Given the description of an element on the screen output the (x, y) to click on. 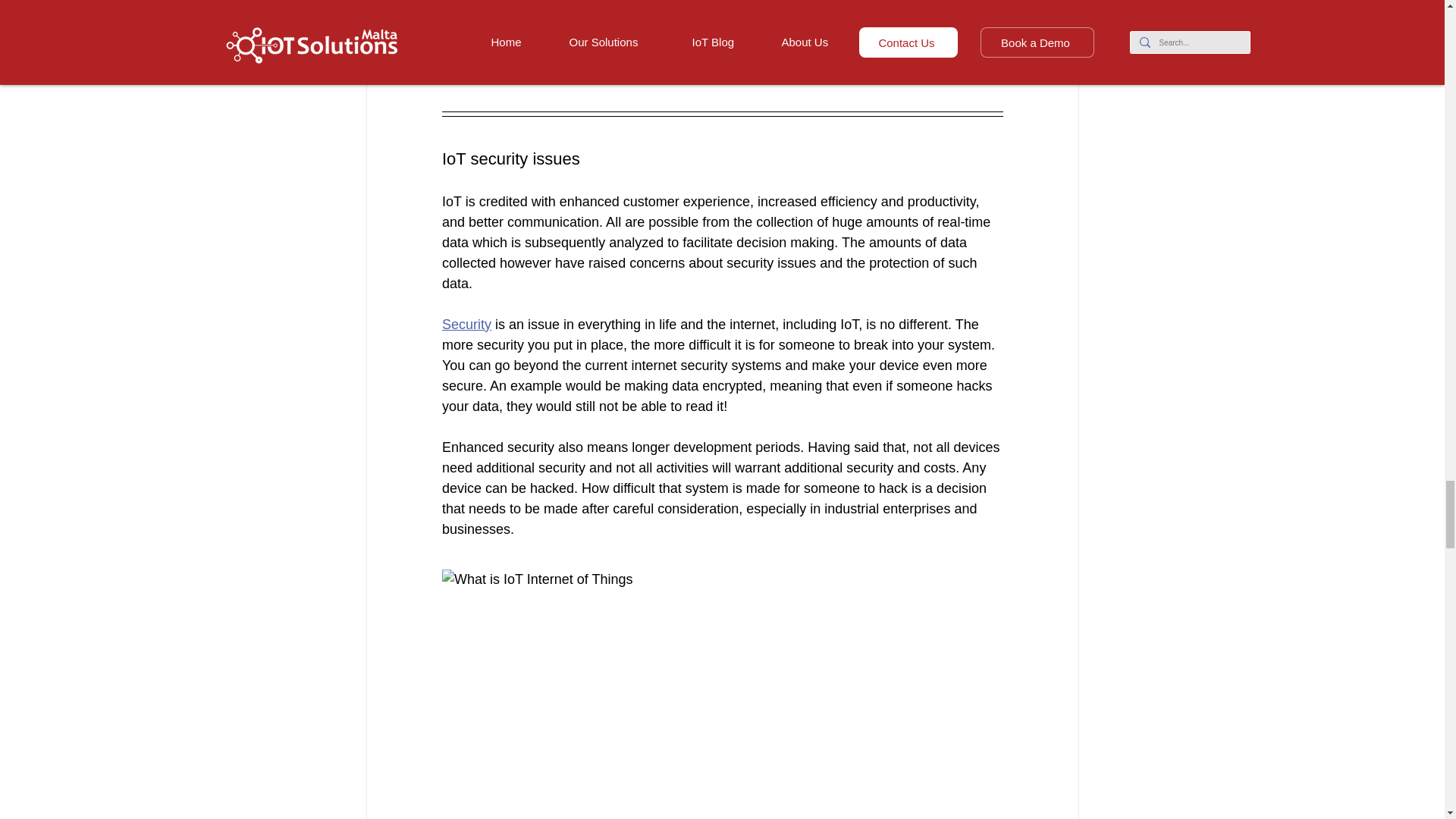
I want to claim my FREE consultation! (726, 57)
Security (465, 324)
